Given the description of an element on the screen output the (x, y) to click on. 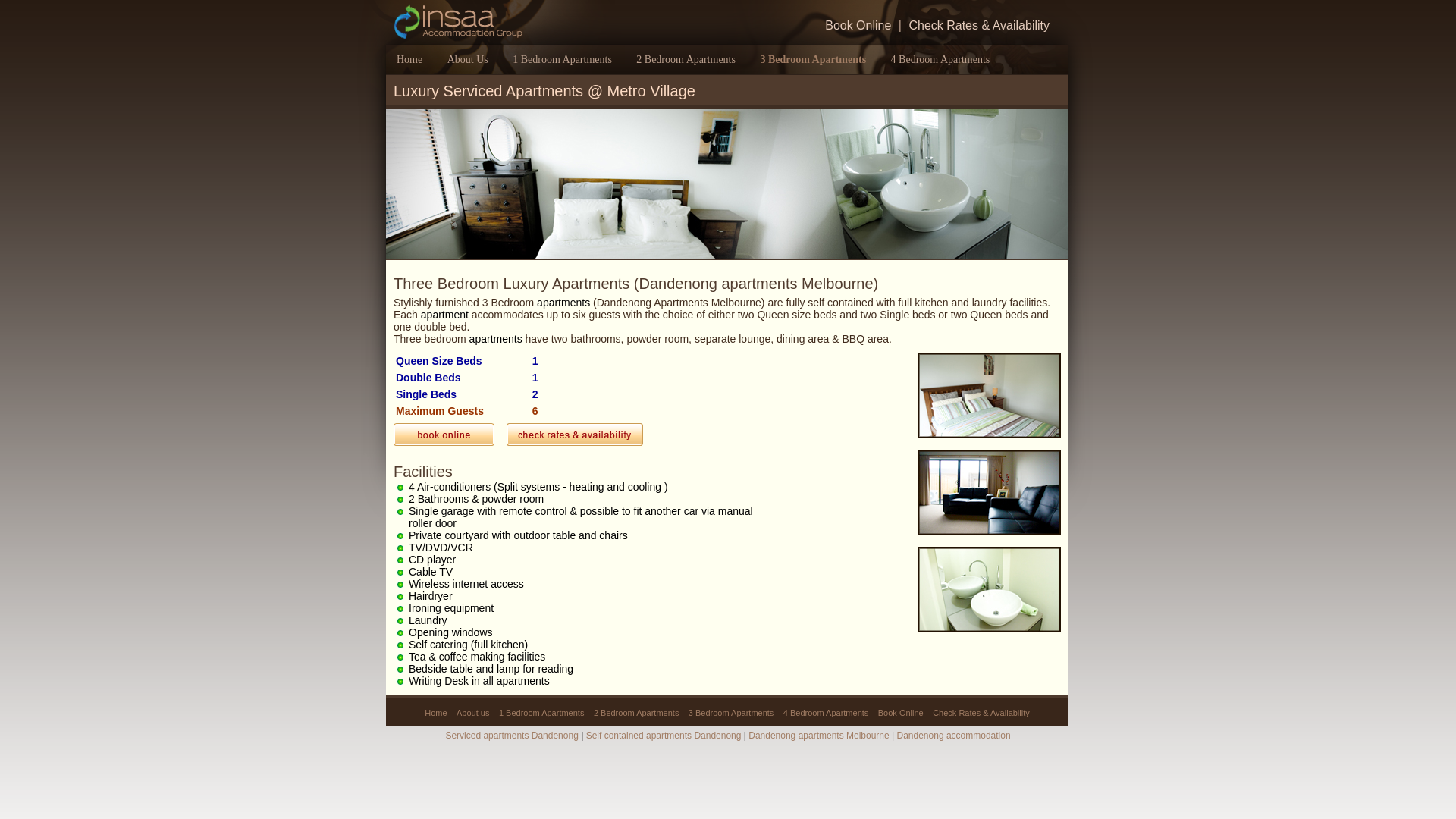
apartments Element type: text (495, 338)
Self contained apartments Dandenong Element type: text (663, 735)
Book Online Element type: text (900, 712)
Dandenong apartments Melbourne Element type: hover (574, 434)
4 Bedroom Apartments Element type: text (940, 59)
2 Bedroom Apartments Element type: text (636, 712)
Home Element type: text (409, 59)
Home Element type: text (435, 712)
Check Rates & Availability Element type: text (978, 25)
2 Bedroom Apartments Element type: text (685, 59)
Dandenong apartments Melbourne Element type: hover (443, 434)
apartment Element type: text (444, 314)
Check Rates & Availability Element type: text (980, 712)
apartments Element type: text (522, 680)
Book Online Element type: text (857, 25)
1 Bedroom Apartments Element type: text (541, 712)
Serviced apartments Dandenong Element type: text (511, 735)
Dandenong accommodation Element type: text (953, 735)
Dandenong apartments Melbourne Element type: text (818, 735)
4 Bedroom Apartments Element type: text (826, 712)
3 Bedroom Apartments Element type: text (731, 712)
3 Bedroom Apartments Element type: text (812, 59)
About Us Element type: text (467, 59)
About us Element type: text (472, 712)
apartments Element type: text (562, 302)
1 Bedroom Apartments Element type: text (562, 59)
